Given the description of an element on the screen output the (x, y) to click on. 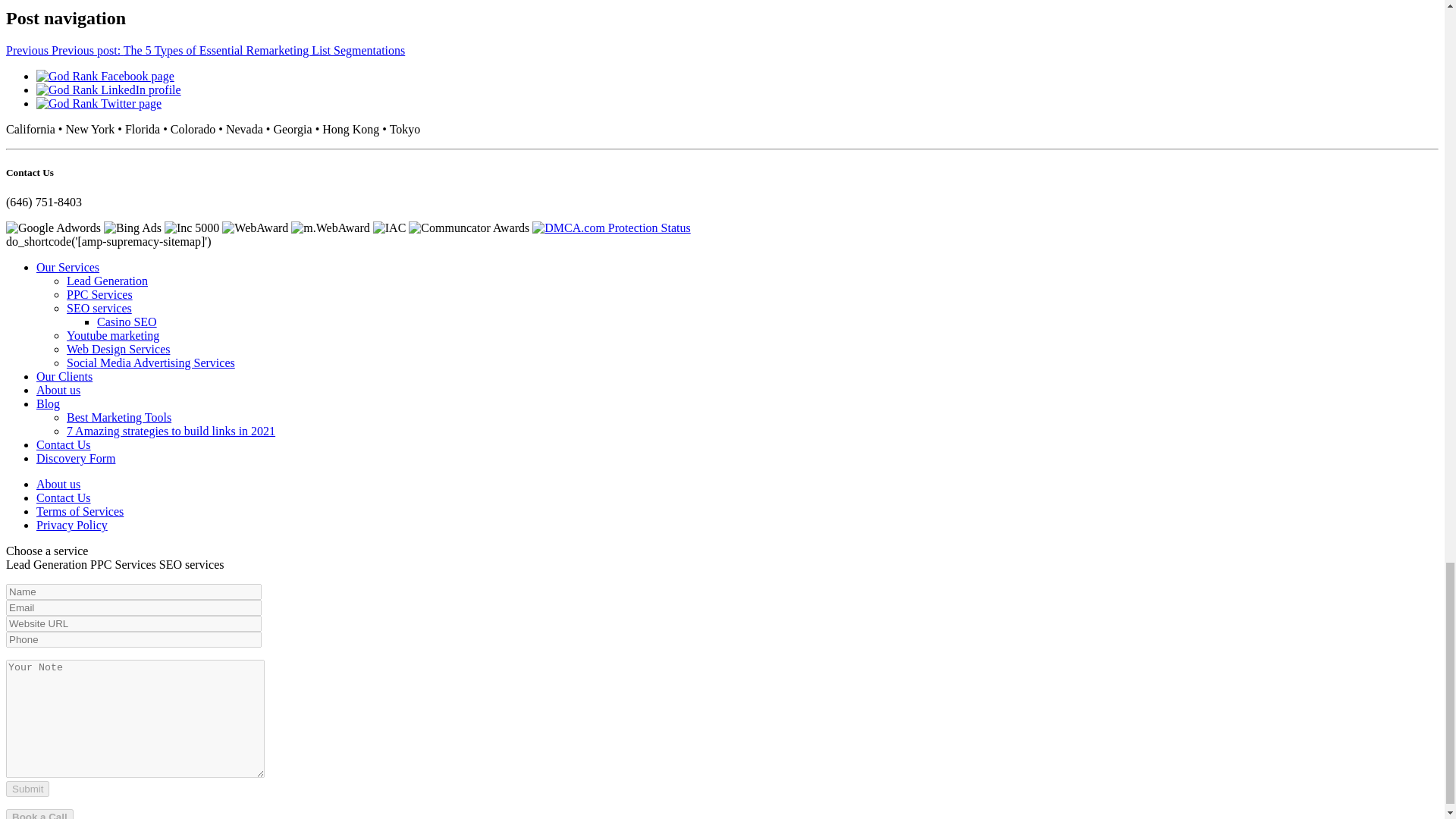
Submit (27, 788)
Web Design Services (118, 349)
PPC Services (99, 294)
Lead Generation (107, 280)
DMCA.com Protection Status (611, 227)
SEO services (99, 308)
Social Media Advertising Services (150, 362)
Youtube marketing (112, 335)
Casino SEO (127, 321)
Our Services (67, 267)
